Given the description of an element on the screen output the (x, y) to click on. 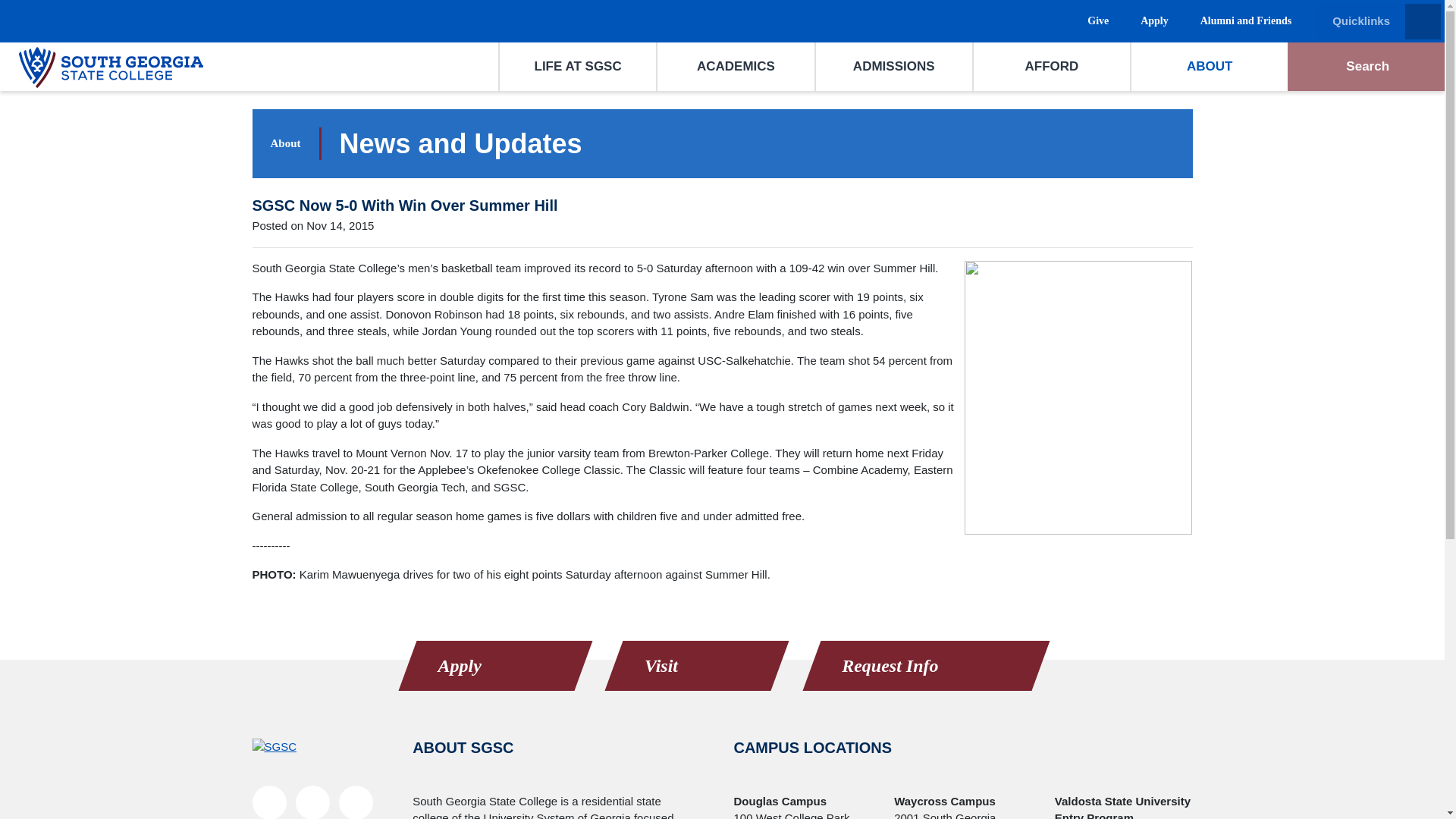
LIFE AT SGSC (577, 66)
ABOUT (1209, 66)
ACADEMICS (735, 66)
Alumni and Friends (1242, 27)
ADMISSIONS (893, 66)
Quicklinks (1379, 21)
Apply (1151, 27)
AFFORD (1051, 66)
